Given the description of an element on the screen output the (x, y) to click on. 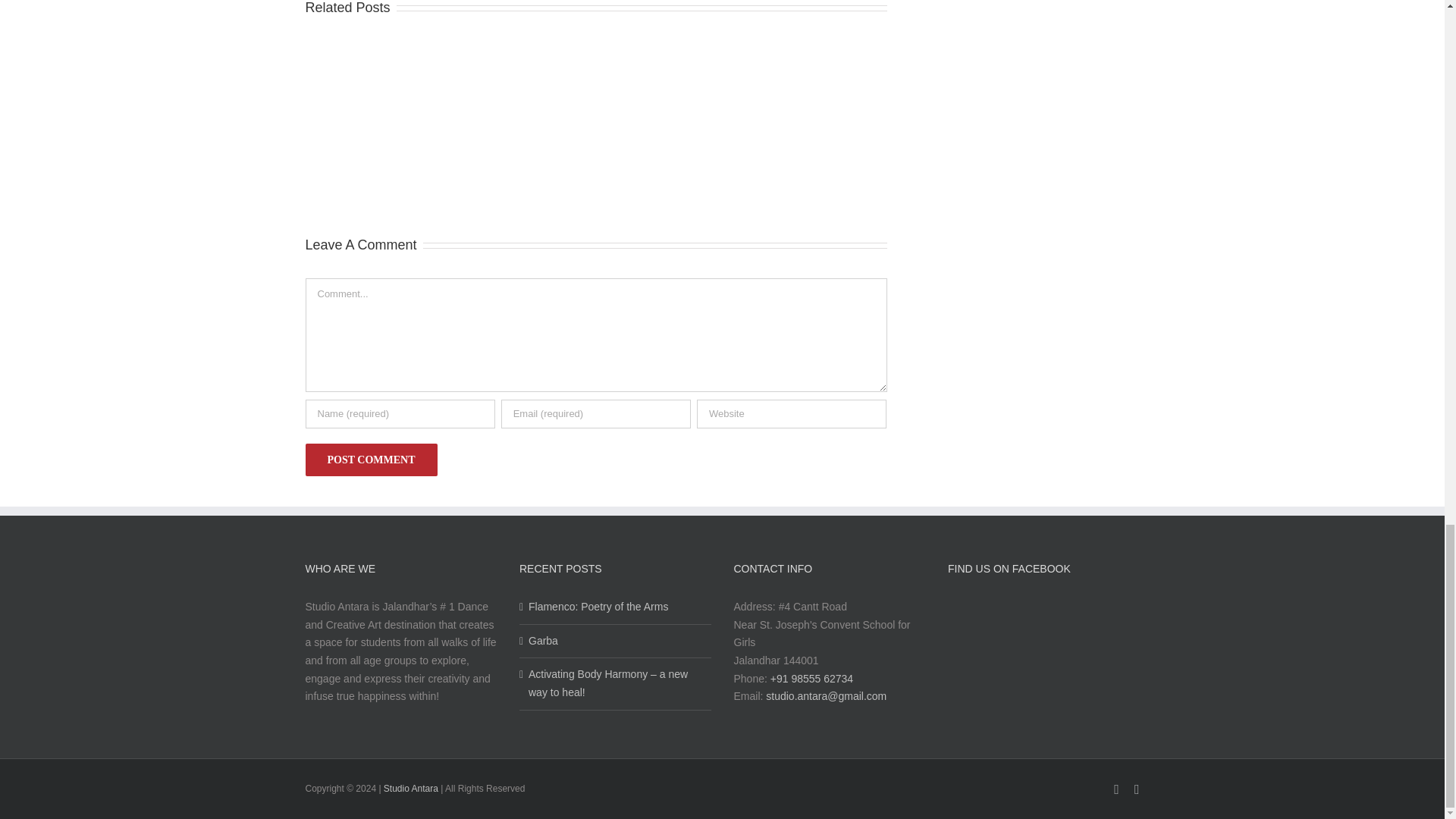
Post Comment (370, 459)
